Given the description of an element on the screen output the (x, y) to click on. 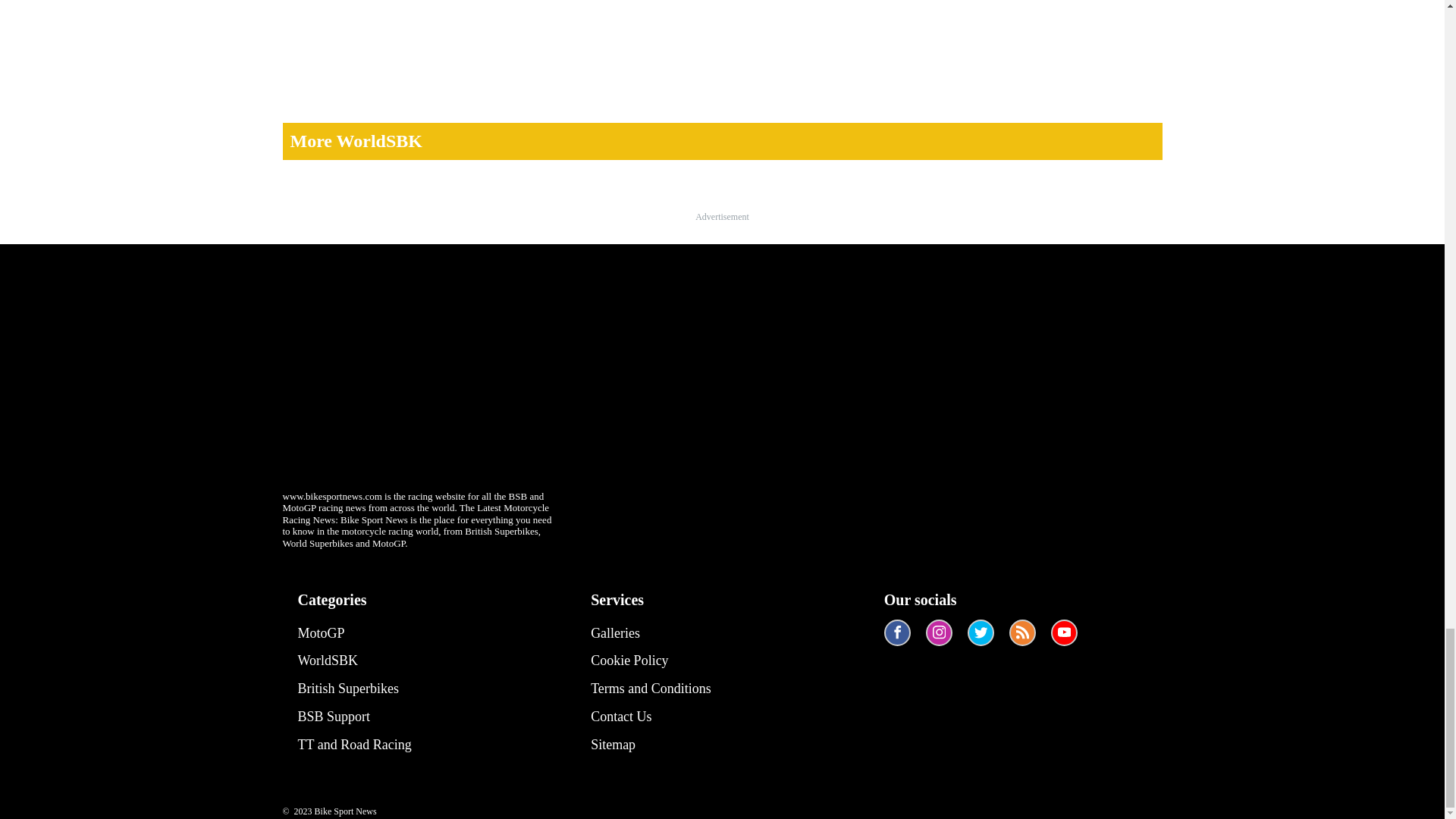
WorldSBK (353, 660)
BSB Support (353, 716)
MotoGP (353, 633)
British Superbikes (353, 688)
Galleries (651, 633)
Terms and Conditions (651, 688)
Cookie Policy (651, 660)
TT and Road Racing (353, 745)
